Given the description of an element on the screen output the (x, y) to click on. 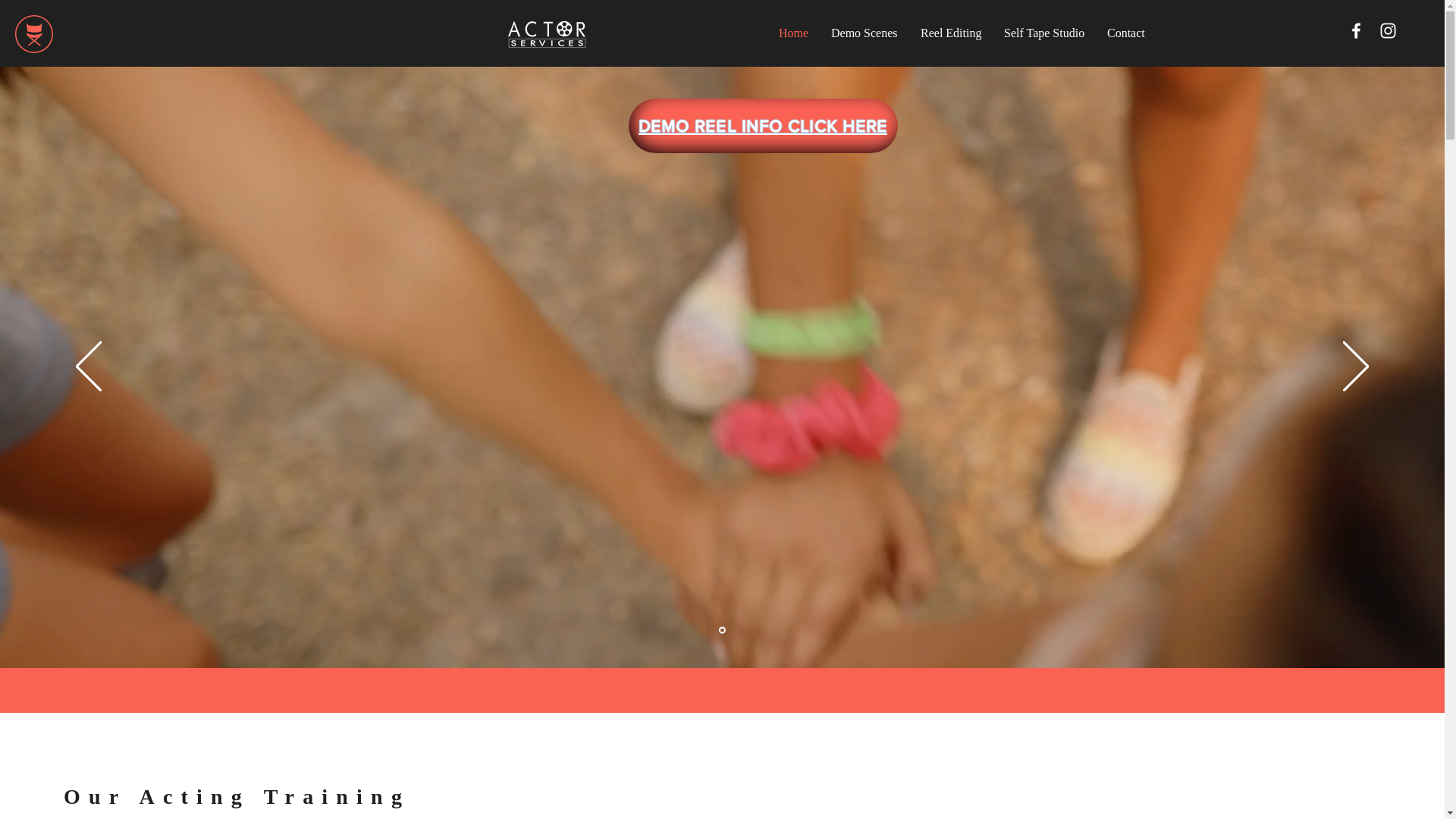
Contact Element type: text (1125, 32)
DEMO REEL INFO CLICK HERE Element type: text (762, 125)
Demo Scenes Element type: text (864, 32)
Reel Editing Element type: text (950, 32)
Home Element type: text (793, 32)
Self Tape Studio Element type: text (1043, 32)
